Given the description of an element on the screen output the (x, y) to click on. 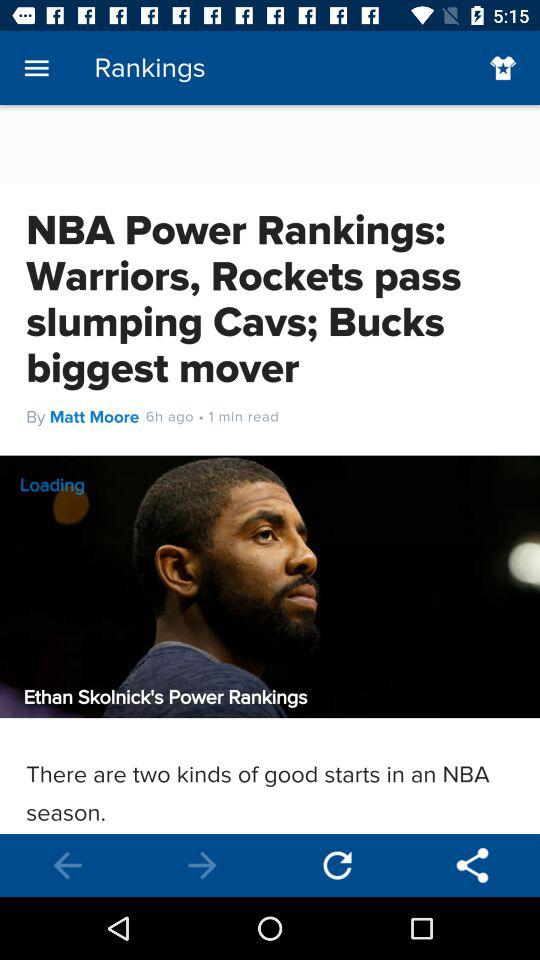
refresh page (337, 865)
